Given the description of an element on the screen output the (x, y) to click on. 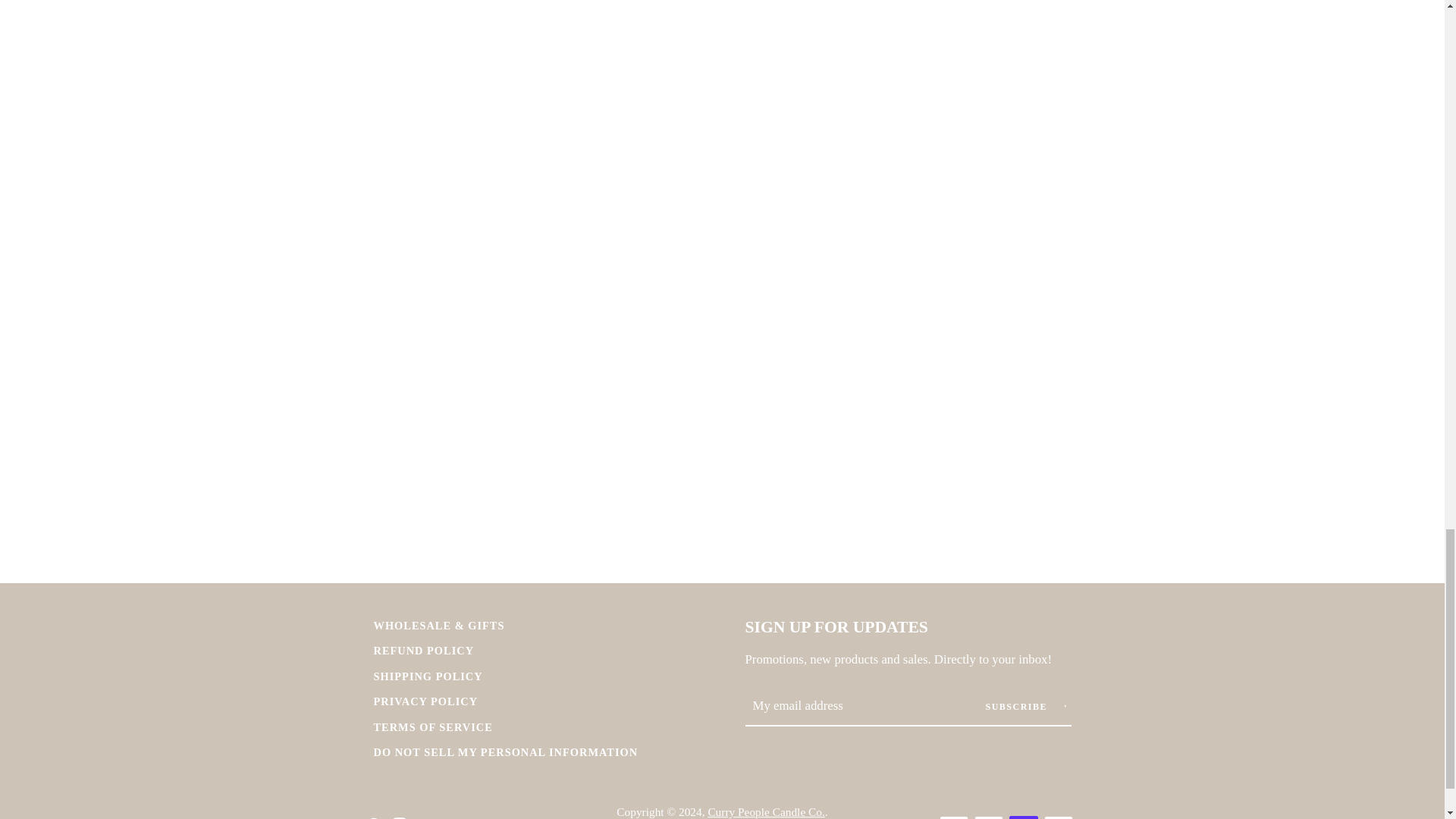
Visa (1057, 817)
Mastercard (953, 817)
Shop Pay (1022, 817)
PayPal (988, 817)
Curry People Candle Co. on Pinterest (372, 816)
Curry People Candle Co. on Instagram (399, 816)
